Given the description of an element on the screen output the (x, y) to click on. 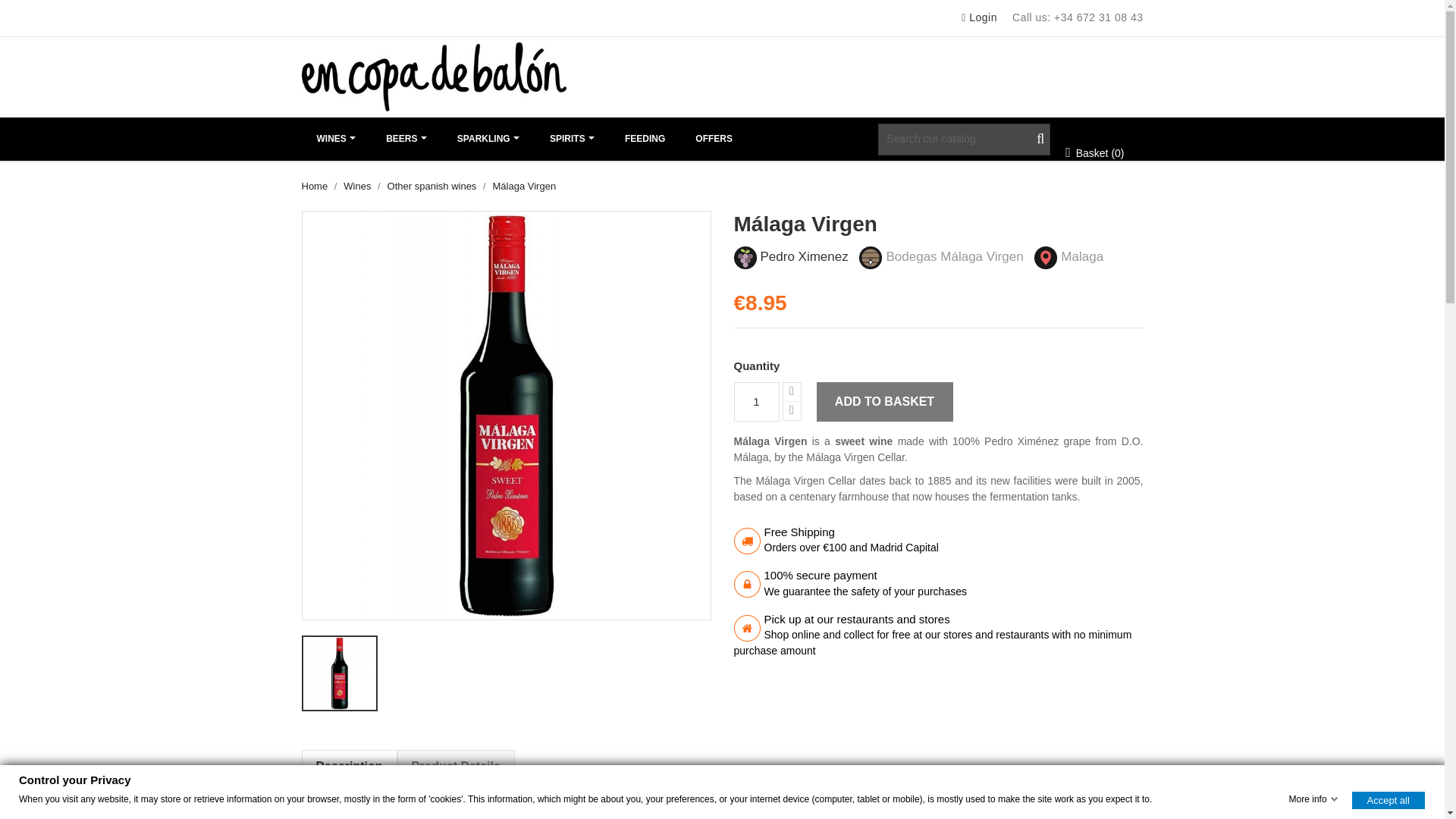
Buy wines with Pedro Ximenez (745, 257)
Free Shipping (746, 540)
Buy Malaga wines (1085, 256)
1 (755, 401)
Log in to your customer account (977, 17)
WINES (336, 138)
Buy wines with Pedro Ximenez (803, 256)
Buy Malaga wines (1045, 257)
Login (977, 17)
BEERS (406, 138)
EnCopadeBalon (434, 77)
